Given the description of an element on the screen output the (x, y) to click on. 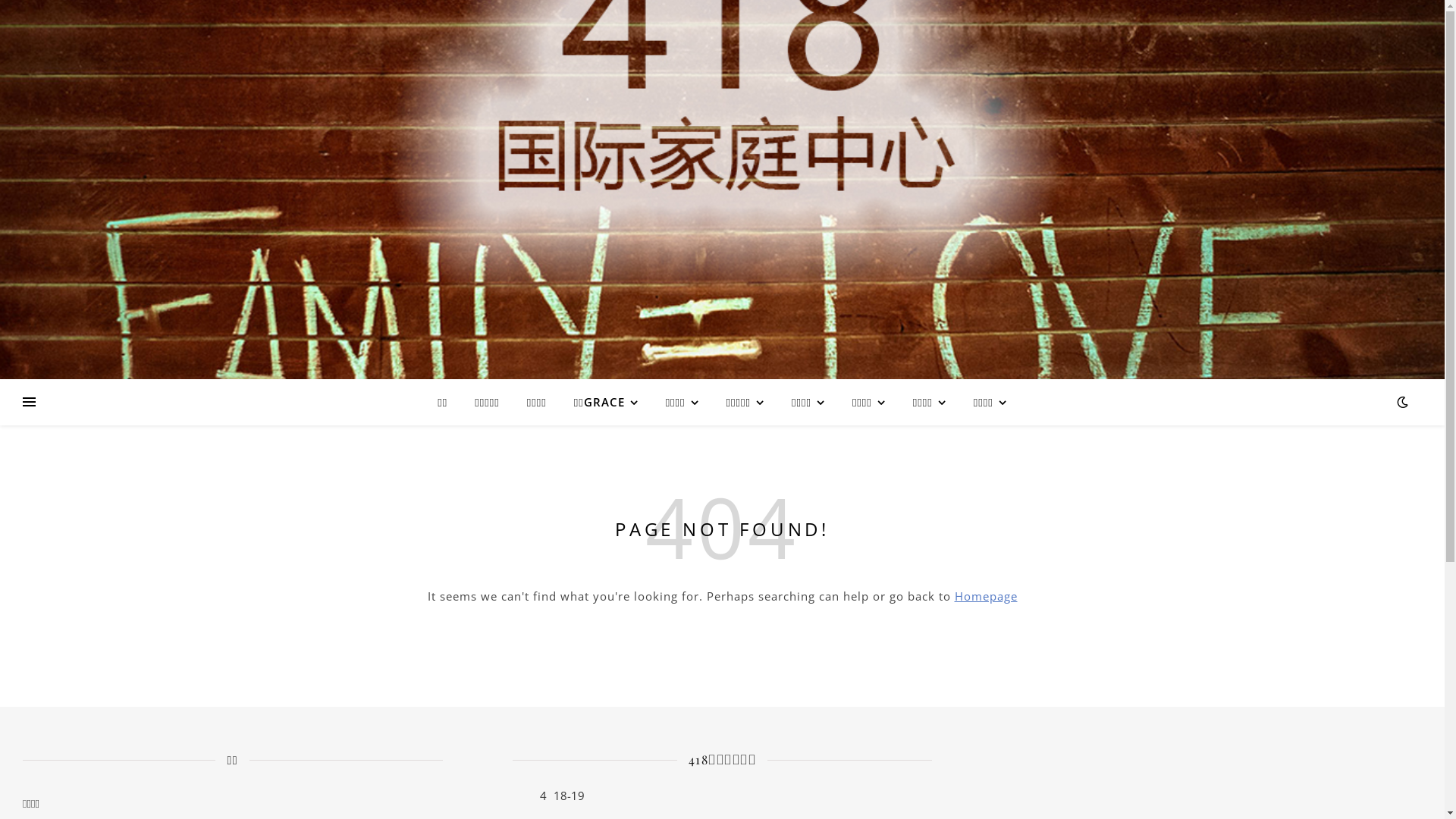
Homepage Element type: text (984, 595)
